Given the description of an element on the screen output the (x, y) to click on. 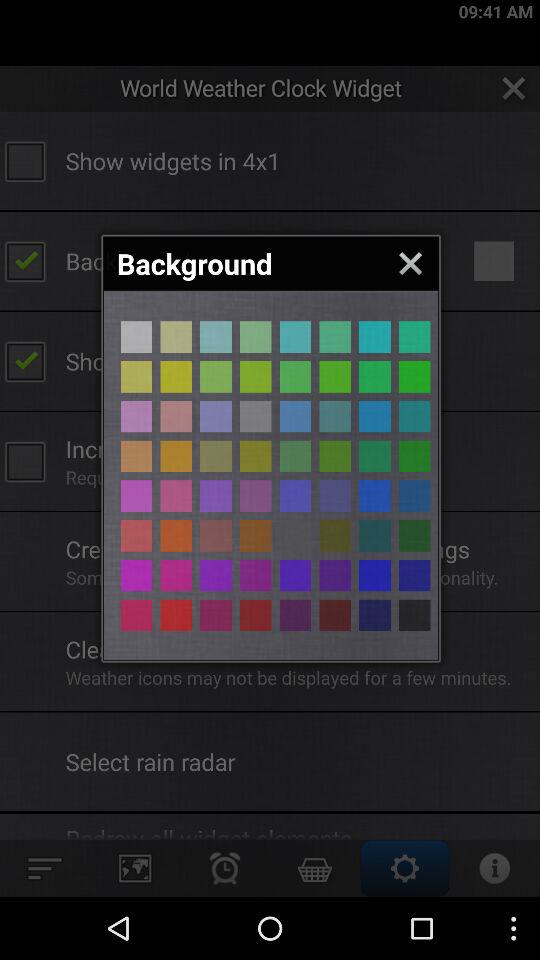
background color selection (176, 495)
